Given the description of an element on the screen output the (x, y) to click on. 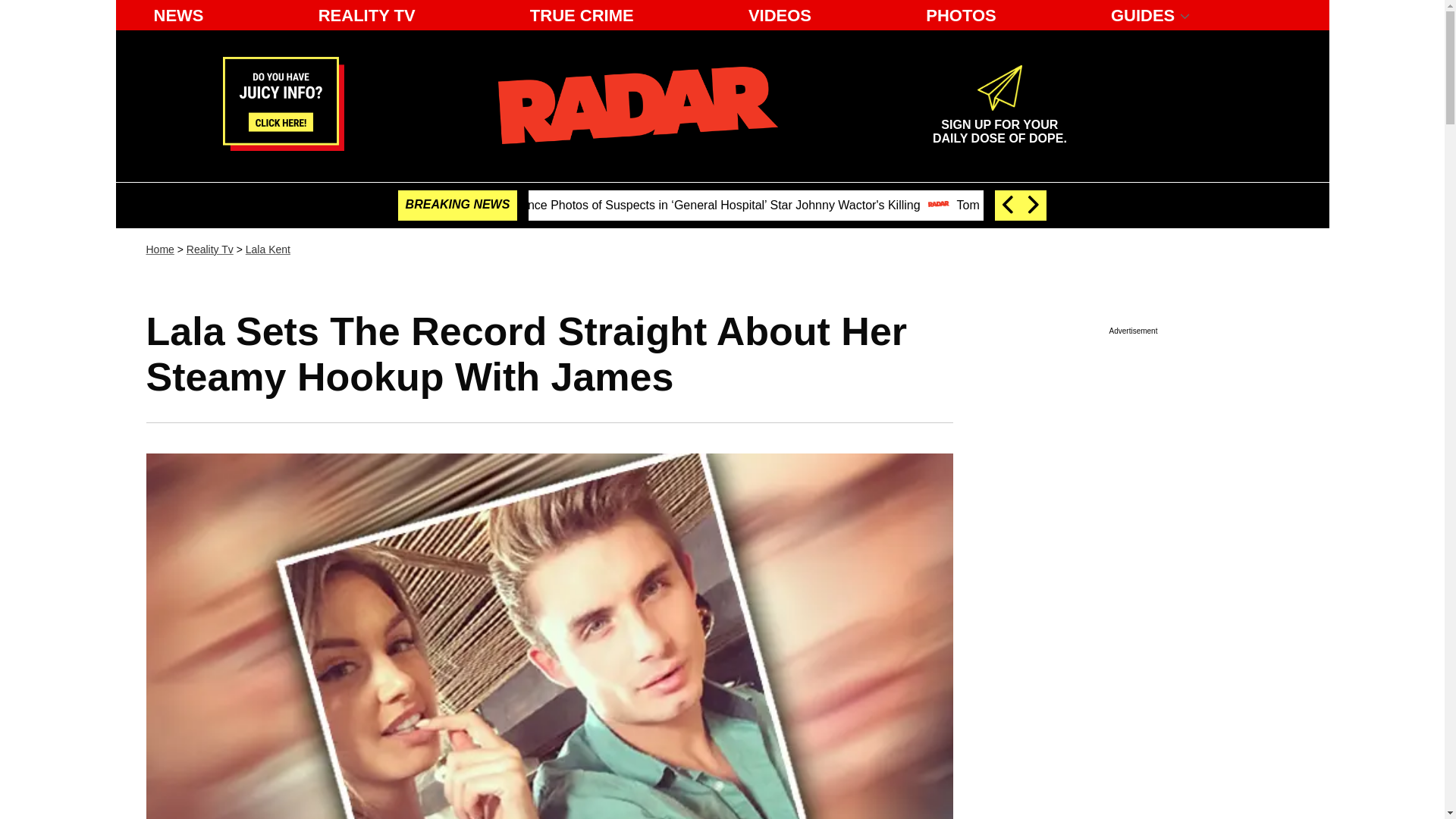
PHOTOS (961, 15)
REALITY TV (367, 15)
Reality Tv (209, 249)
Email us your tip (282, 146)
NEWS (178, 15)
Radar Online (637, 105)
Sign up for your daily dose of dope. (999, 124)
TRUE CRIME (582, 15)
Lala Kent (267, 249)
Home (159, 249)
